Given the description of an element on the screen output the (x, y) to click on. 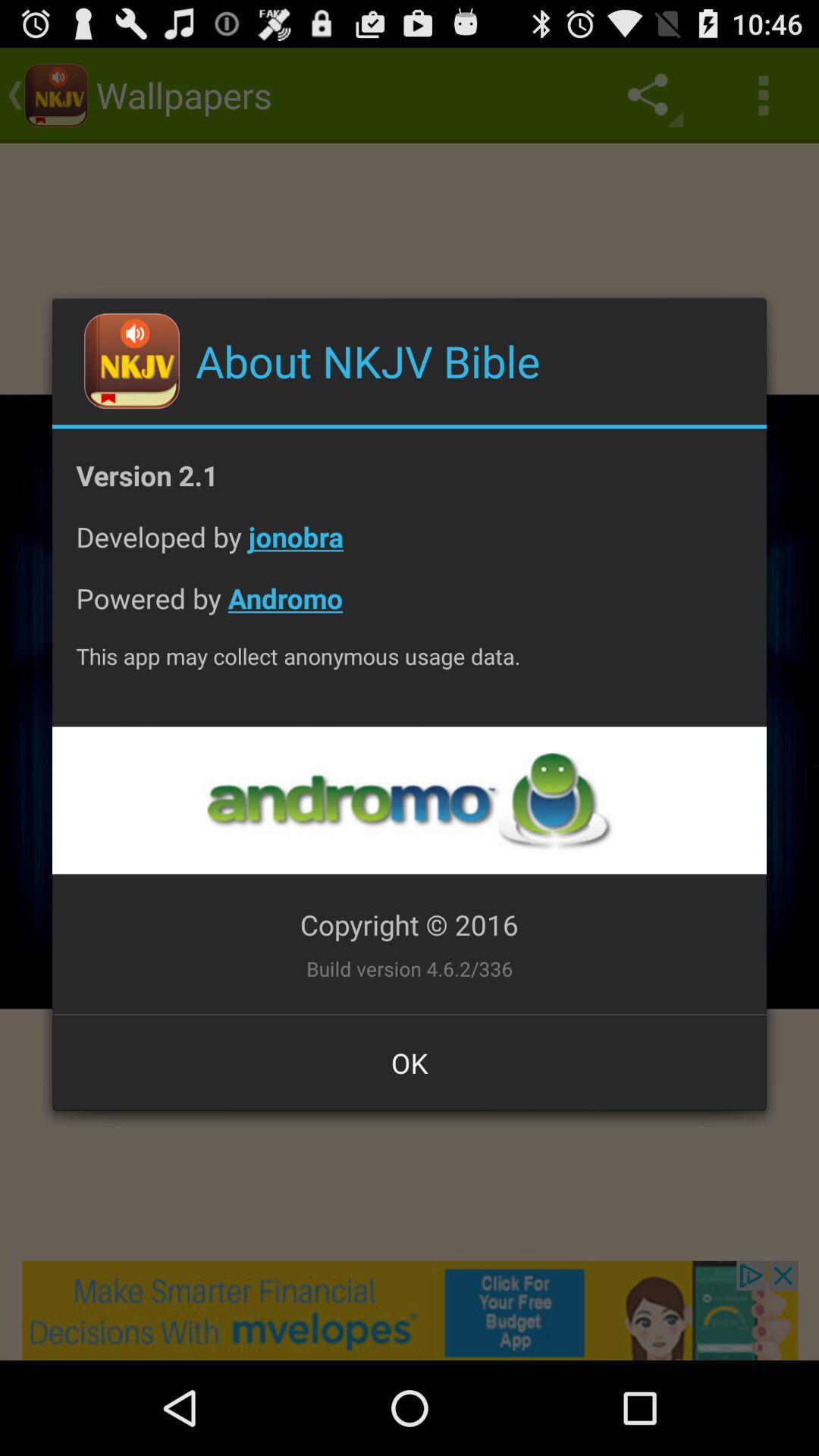
open the ok button (409, 1062)
